Given the description of an element on the screen output the (x, y) to click on. 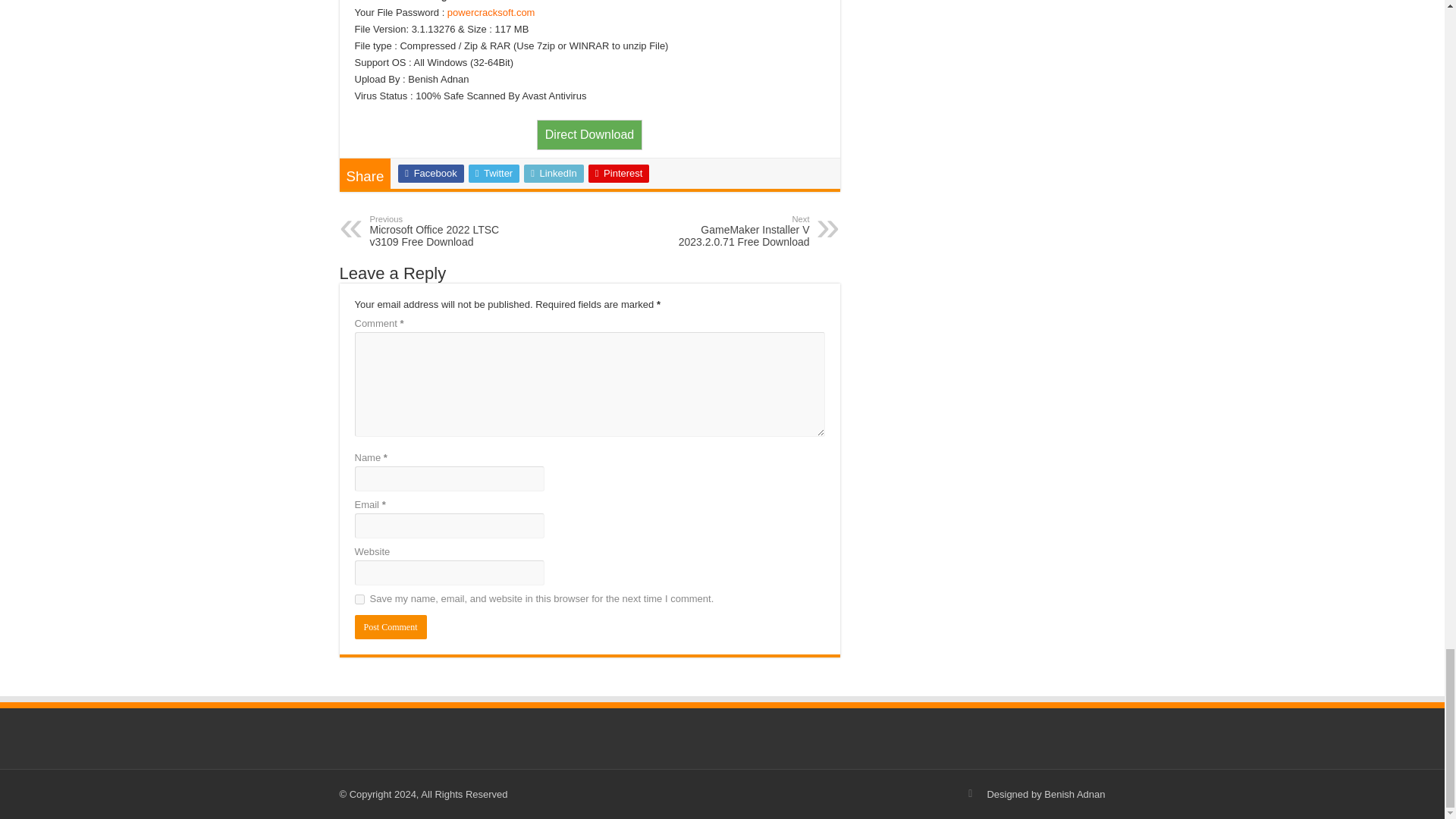
Direct Download (731, 231)
yes (589, 134)
Direct Download (360, 599)
Facebook (447, 231)
Pinterest (589, 134)
LinkedIn (430, 173)
Mega (618, 173)
Post Comment (553, 173)
